Given the description of an element on the screen output the (x, y) to click on. 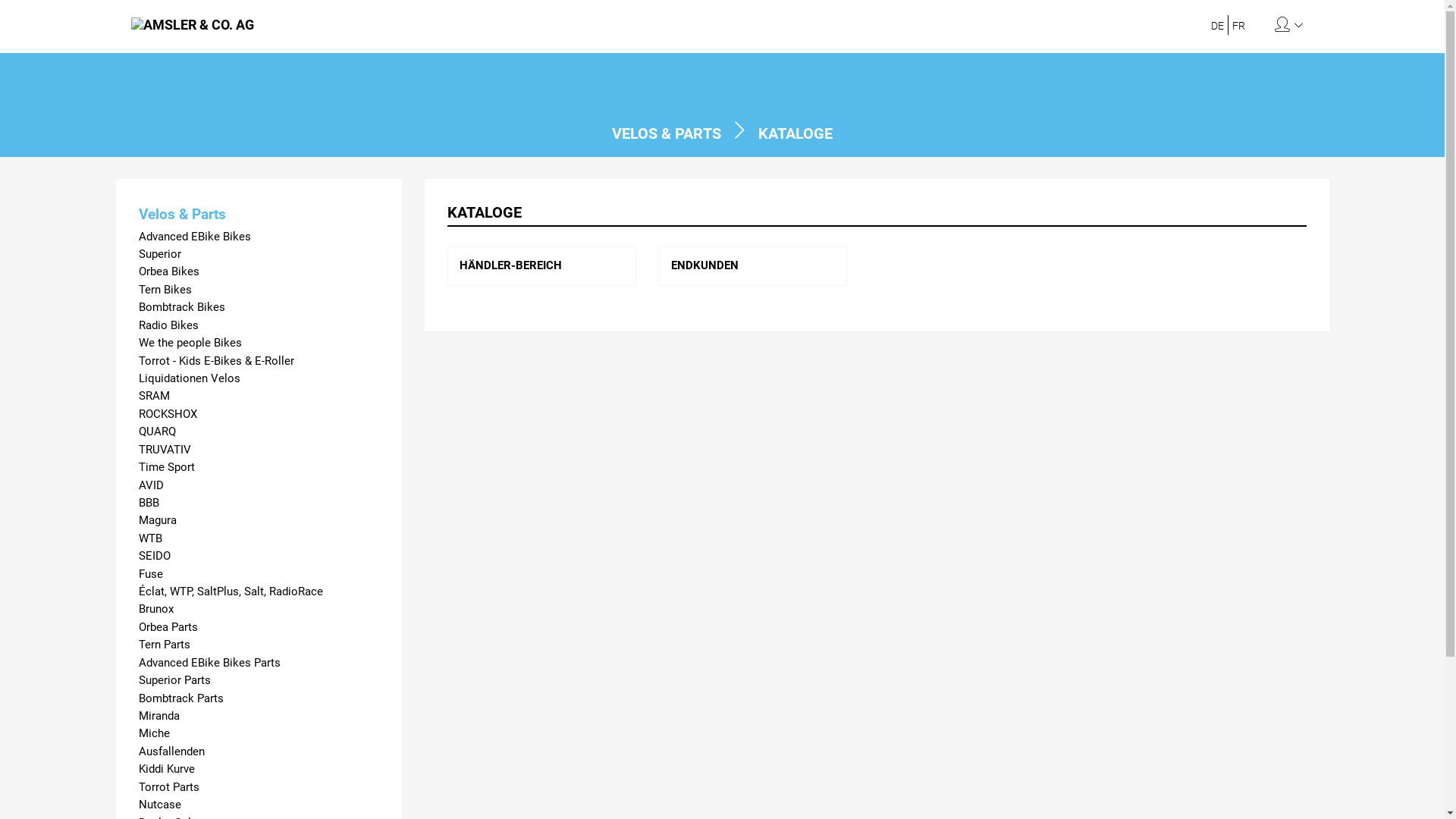
Advanced EBike Bikes Element type: text (258, 236)
ENDKUNDEN Element type: text (704, 265)
Tern Parts Element type: text (258, 644)
Advanced EBike Bikes Parts Element type: text (258, 663)
TRUVATIV Element type: text (258, 450)
We the people Bikes Element type: text (258, 343)
Fuse Element type: text (258, 574)
QUARQ Element type: text (258, 431)
DE Element type: text (1217, 25)
BBB Element type: text (258, 503)
VELOS & PARTS Element type: text (666, 133)
Orbea Parts Element type: text (258, 627)
KATALOGE Element type: text (876, 213)
Kiddi Kurve Element type: text (258, 769)
Orbea Bikes Element type: text (258, 271)
Nutcase Element type: text (258, 804)
Liquidationen Velos Element type: text (258, 378)
FR Element type: text (1238, 25)
SEIDO Element type: text (258, 556)
KATALOGE Element type: text (795, 133)
Bombtrack Bikes Element type: text (258, 307)
Superior Parts Element type: text (258, 680)
Superior Element type: text (258, 254)
SRAM Element type: text (258, 396)
Brunox Element type: text (258, 609)
Velos & Parts Element type: text (258, 213)
Torrot - Kids E-Bikes & E-Roller Element type: text (258, 361)
Time Sport Element type: text (258, 467)
Ausfallenden Element type: text (258, 751)
Torrot Parts Element type: text (258, 787)
AVID Element type: text (258, 485)
Tern Bikes Element type: text (258, 290)
Magura Element type: text (258, 520)
WTB Element type: text (258, 538)
Radio Bikes Element type: text (258, 325)
ROCKSHOX Element type: text (258, 414)
Miche Element type: text (258, 733)
Miranda Element type: text (258, 716)
Bombtrack Parts Element type: text (258, 698)
